Given the description of an element on the screen output the (x, y) to click on. 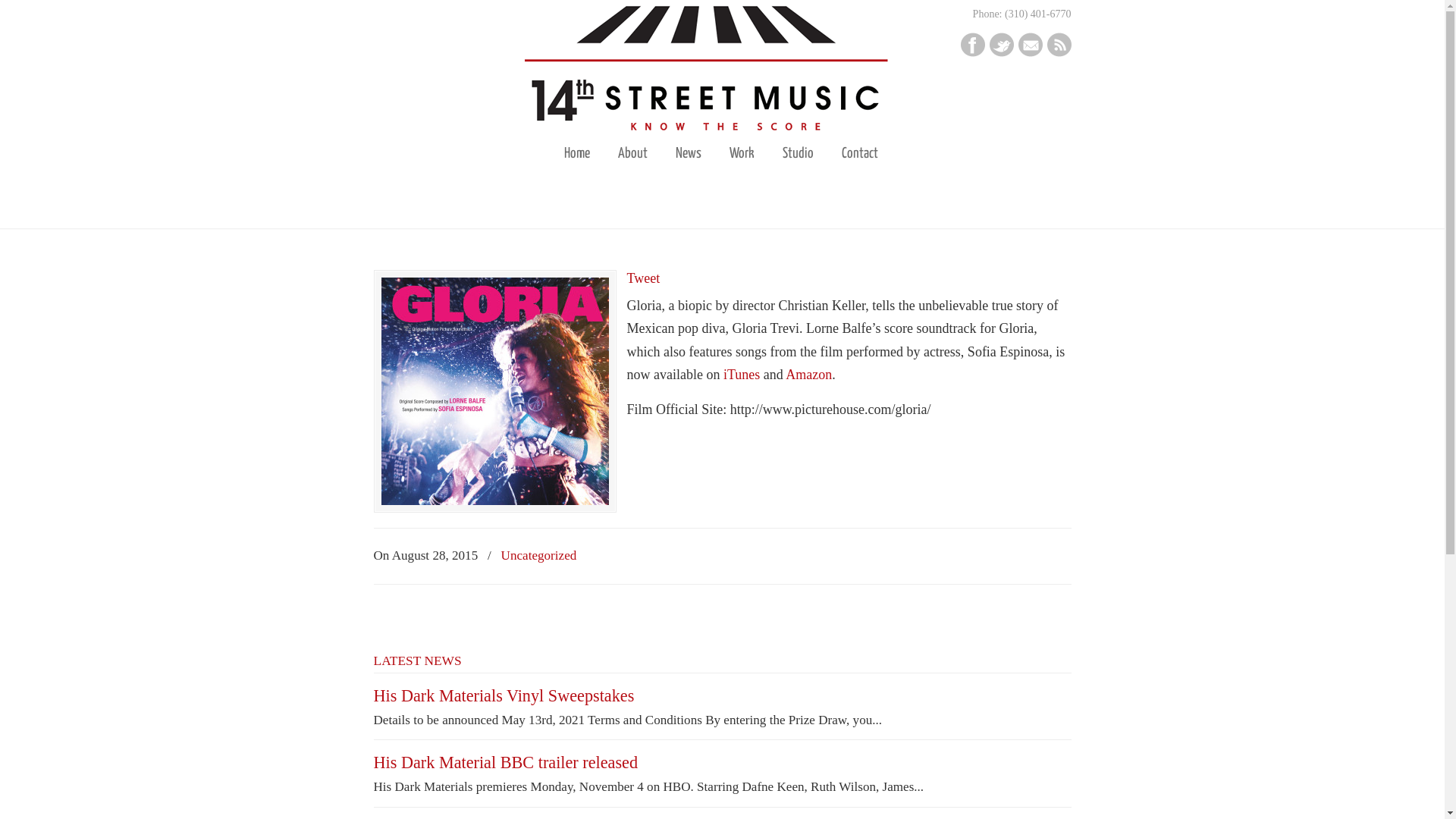
His Dark Material BBC trailer released Element type: text (505, 762)
About Element type: text (632, 153)
Tweet Element type: text (642, 277)
Home Element type: text (577, 153)
Twitter Element type: hover (1000, 51)
Twitter Element type: hover (972, 51)
Gloria Album Now Available! Element type: hover (494, 500)
iTunes Element type: text (741, 374)
E-mail Element type: hover (1029, 51)
News Element type: text (688, 153)
Amazon Element type: text (808, 374)
RSS Element type: hover (1058, 51)
His Dark Materials Vinyl Sweepstakes Element type: text (503, 695)
Work Element type: text (741, 153)
14th Street Music Element type: text (722, 75)
Uncategorized Element type: text (539, 555)
Studio Element type: text (797, 153)
Contact Element type: text (859, 153)
